Given the description of an element on the screen output the (x, y) to click on. 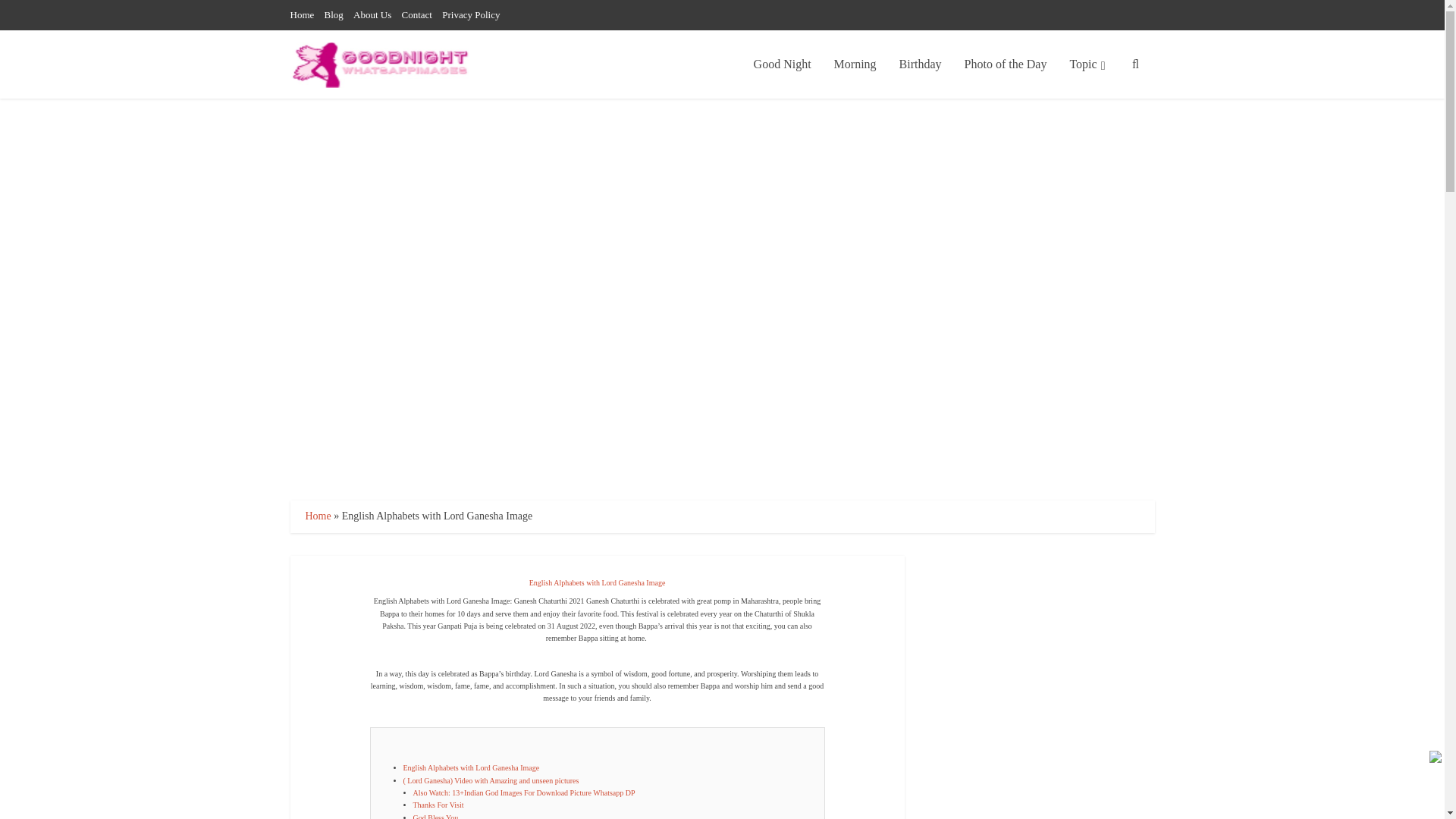
About Us (372, 14)
Contact (416, 14)
Home (301, 14)
Privacy Policy (470, 14)
Birthday (920, 64)
Good Night (782, 64)
Photo of the Day (1005, 64)
Morning (855, 64)
Blog (333, 14)
